Given the description of an element on the screen output the (x, y) to click on. 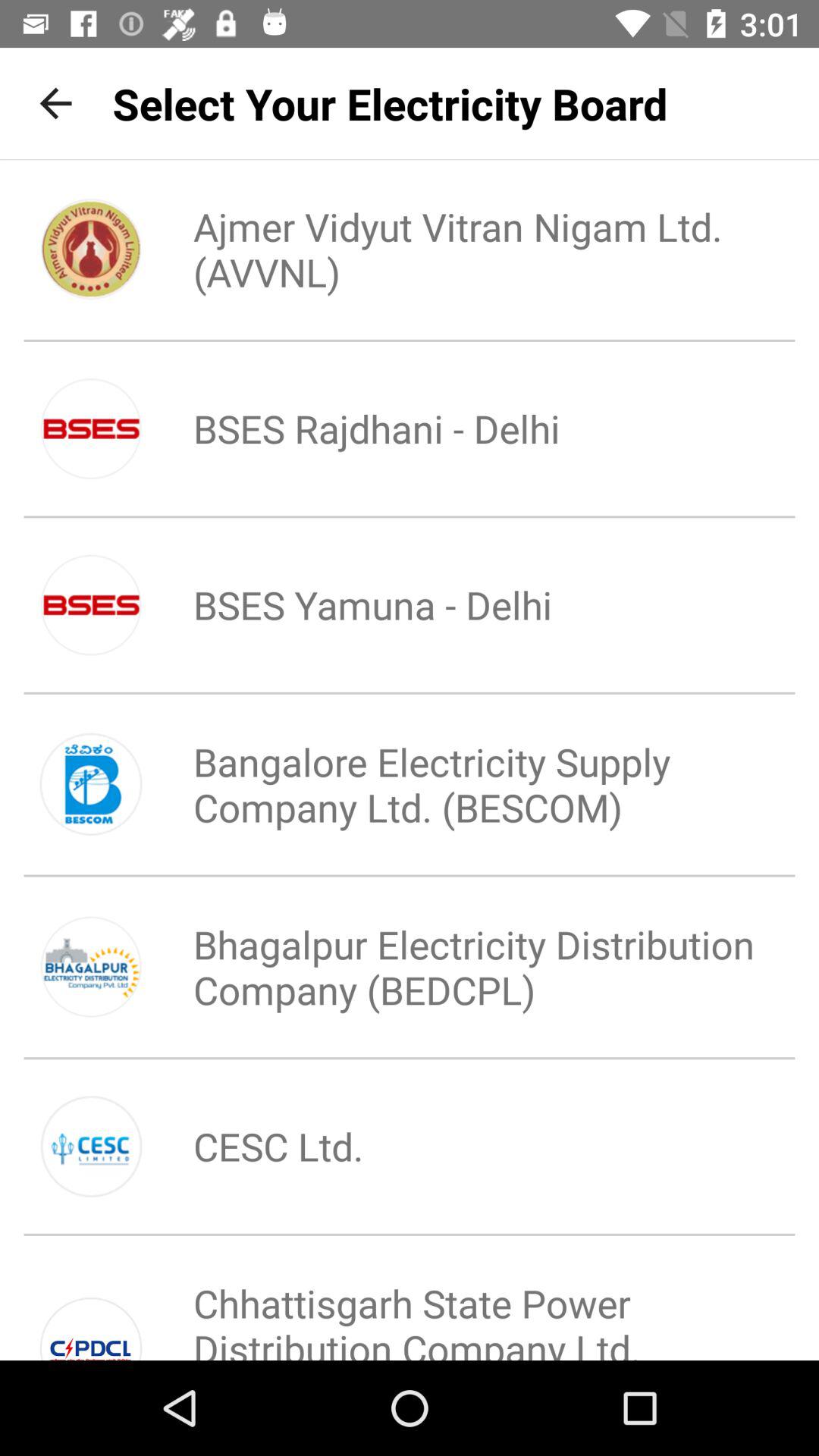
swipe until the bangalore electricity supply (460, 784)
